Given the description of an element on the screen output the (x, y) to click on. 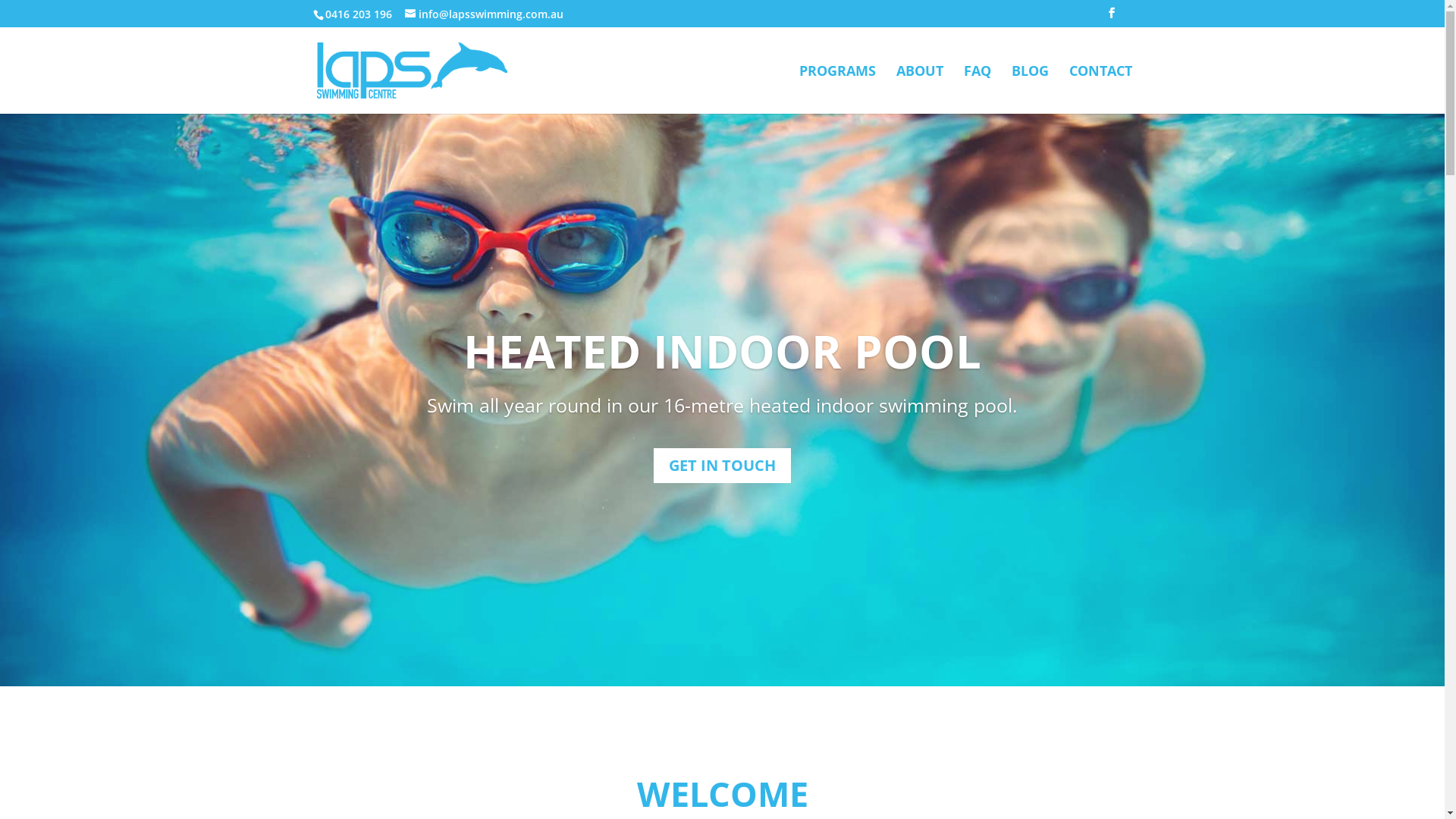
HEATED INDOOR POOL Element type: text (722, 351)
0416 203 196 Element type: text (356, 13)
ABOUT Element type: text (919, 89)
info@lapsswimming.com.au Element type: text (483, 13)
PROGRAMS Element type: text (837, 89)
BLOG Element type: text (1029, 89)
FAQ Element type: text (976, 89)
GET IN TOUCH Element type: text (721, 465)
CONTACT Element type: text (1100, 89)
